Given the description of an element on the screen output the (x, y) to click on. 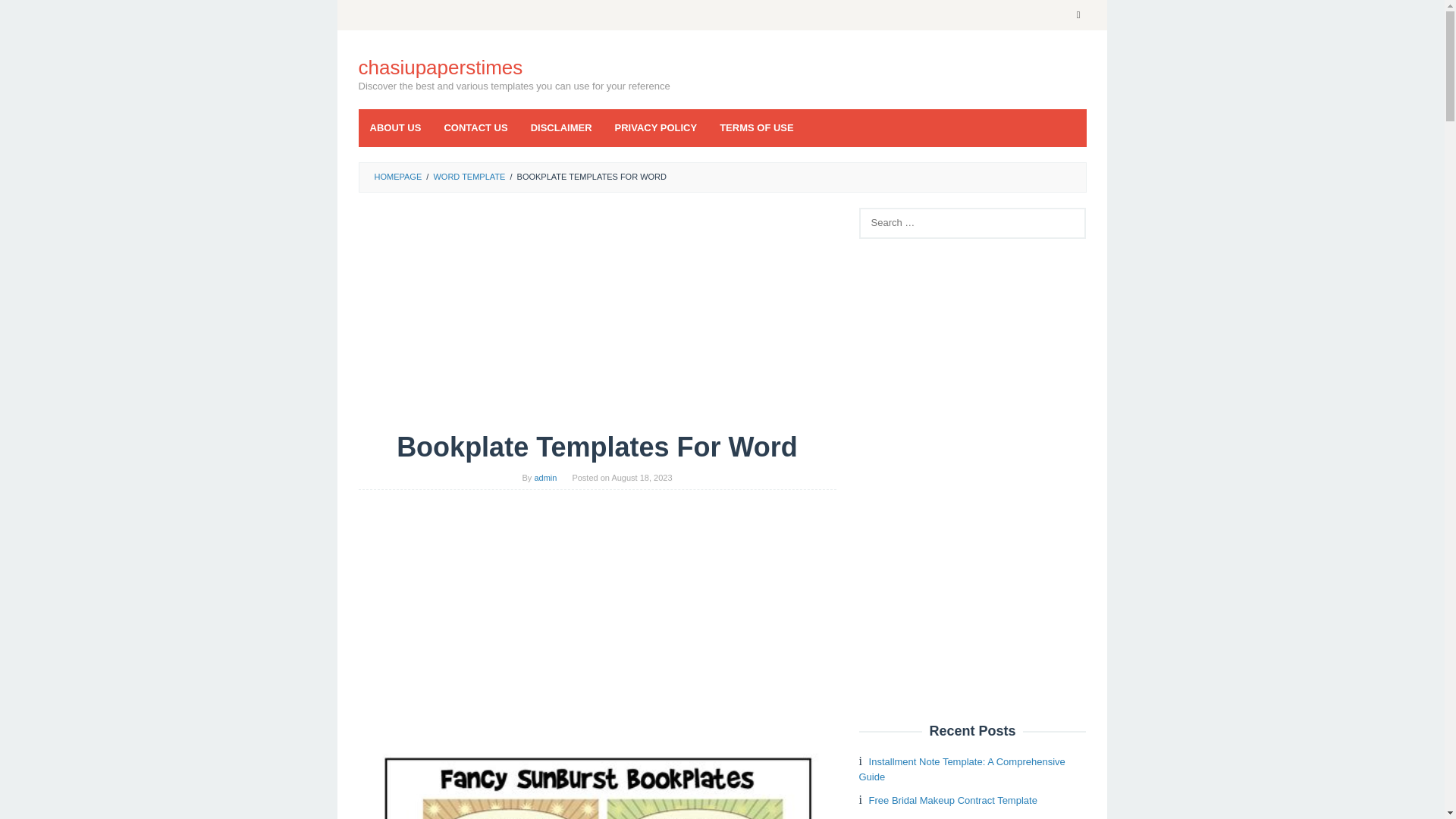
CONTACT US (475, 127)
WORD TEMPLATE (468, 175)
chasiupaperstimes (440, 67)
HOMEPAGE (398, 175)
Installment Note Template: A Comprehensive Guide (961, 768)
Bookplate Templates For Word (596, 774)
Advertisement (596, 617)
admin (545, 477)
Free Bridal Makeup Contract Template (952, 799)
